Given the description of an element on the screen output the (x, y) to click on. 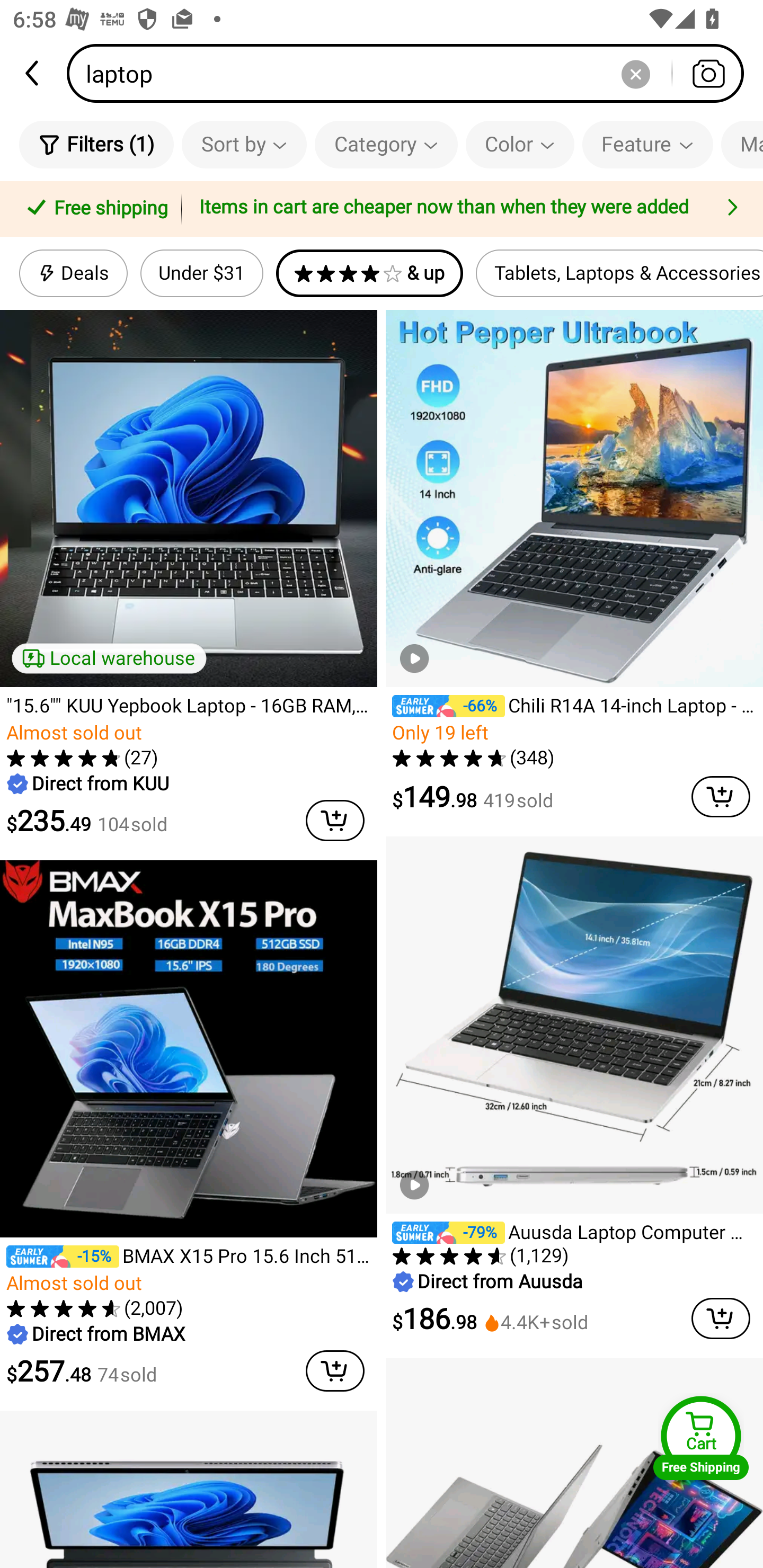
back (33, 72)
laptop (411, 73)
Delete search history (635, 73)
Search by photo (708, 73)
Filters (1) (96, 143)
Sort by (243, 143)
Category (385, 143)
Color (519, 143)
Feature (647, 143)
 Free shipping (93, 208)
Deals (73, 273)
Under $31 (201, 273)
& up (369, 273)
Tablets, Laptops & Accessories (619, 273)
cart delete (720, 796)
cart delete (334, 819)
cart delete (720, 1318)
cart delete (334, 1371)
Cart Free Shipping Cart (701, 1437)
